Given the description of an element on the screen output the (x, y) to click on. 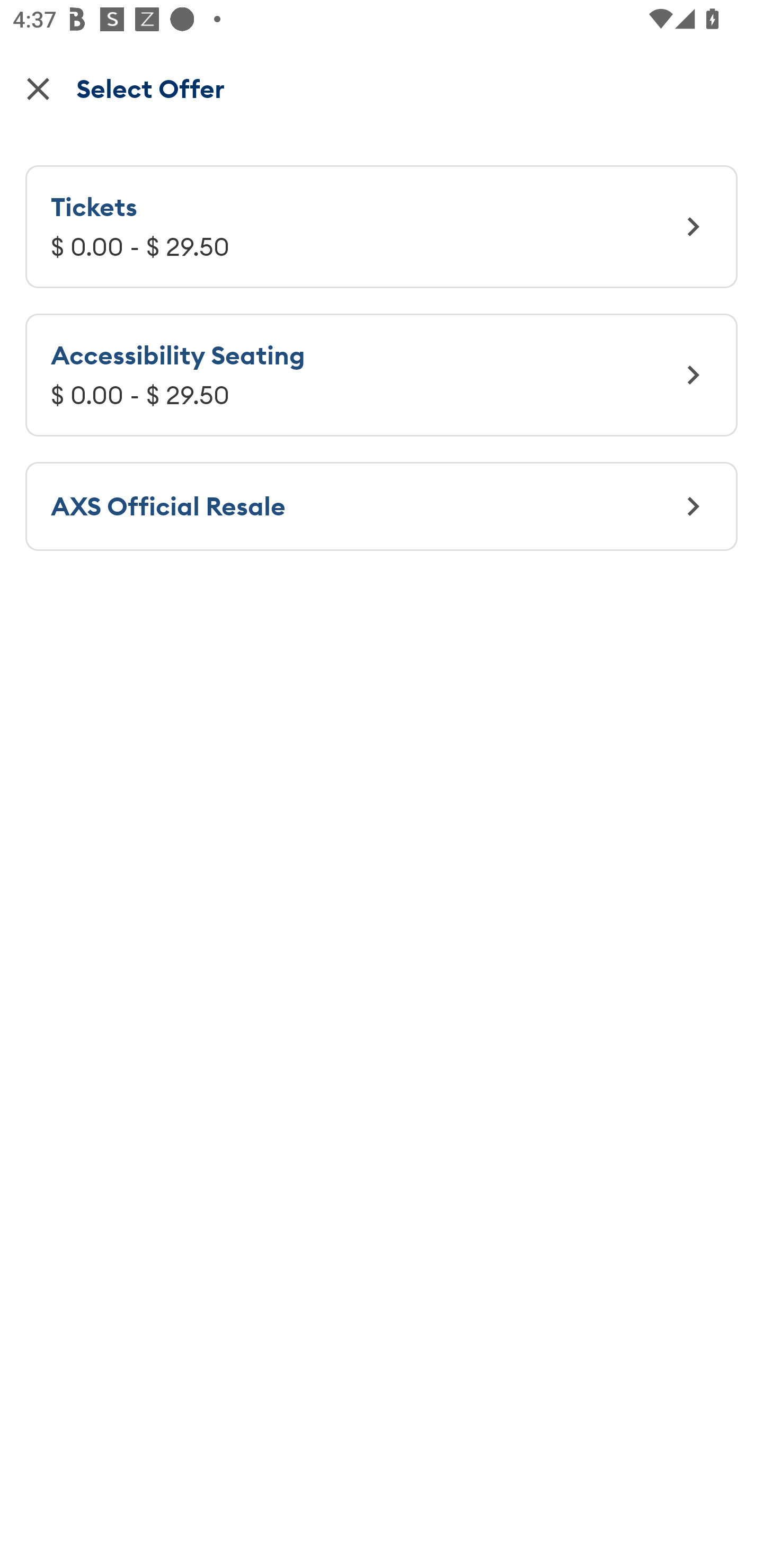
Close (38, 88)
Tickets $ 0.00 - $ 29.50 (381, 226)
Accessibility Seating $ 0.00 - $ 29.50 (381, 374)
AXS Official Resale (381, 506)
